Given the description of an element on the screen output the (x, y) to click on. 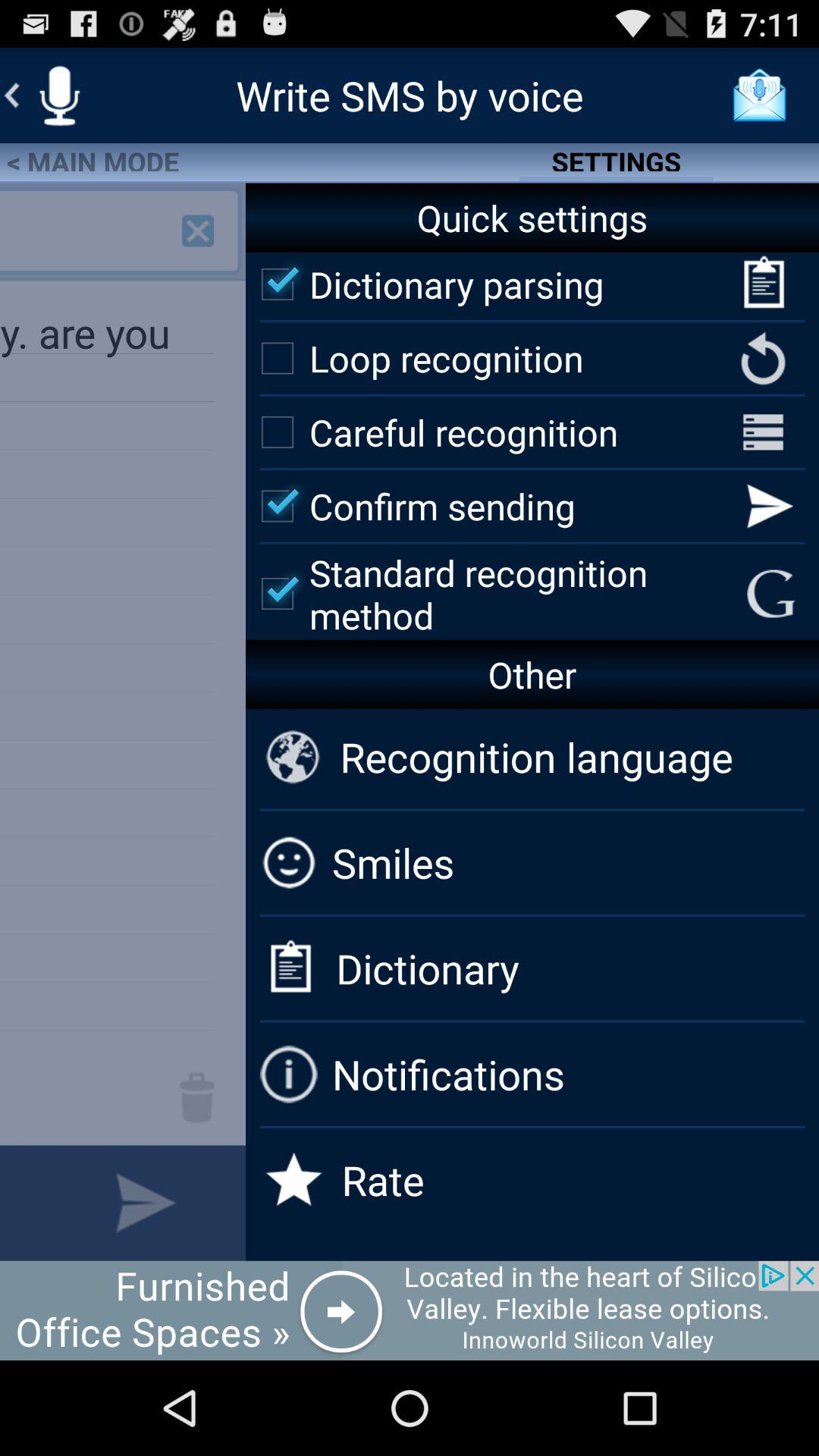
send message (145, 1202)
